Given the description of an element on the screen output the (x, y) to click on. 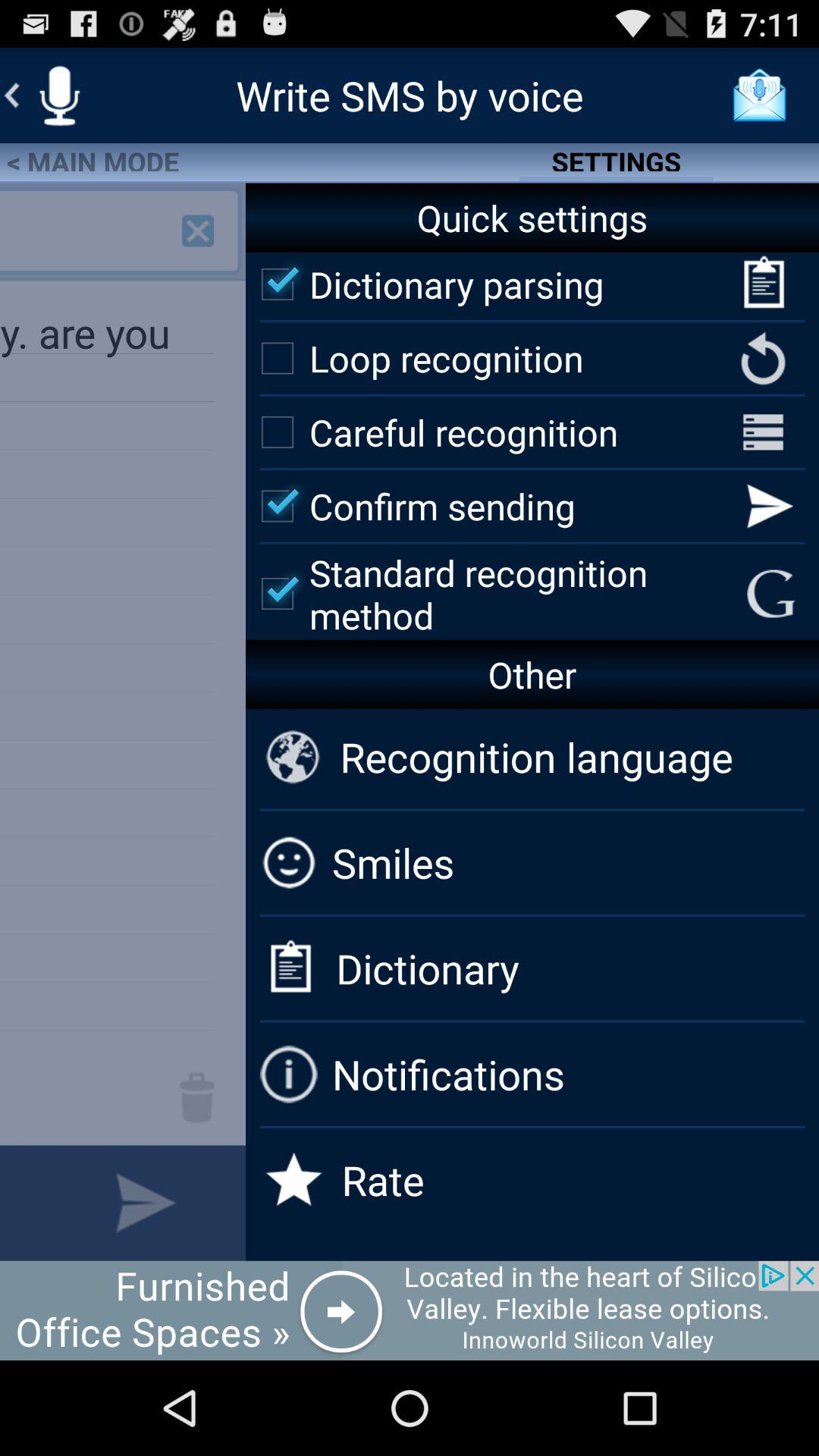
send message (145, 1202)
